Given the description of an element on the screen output the (x, y) to click on. 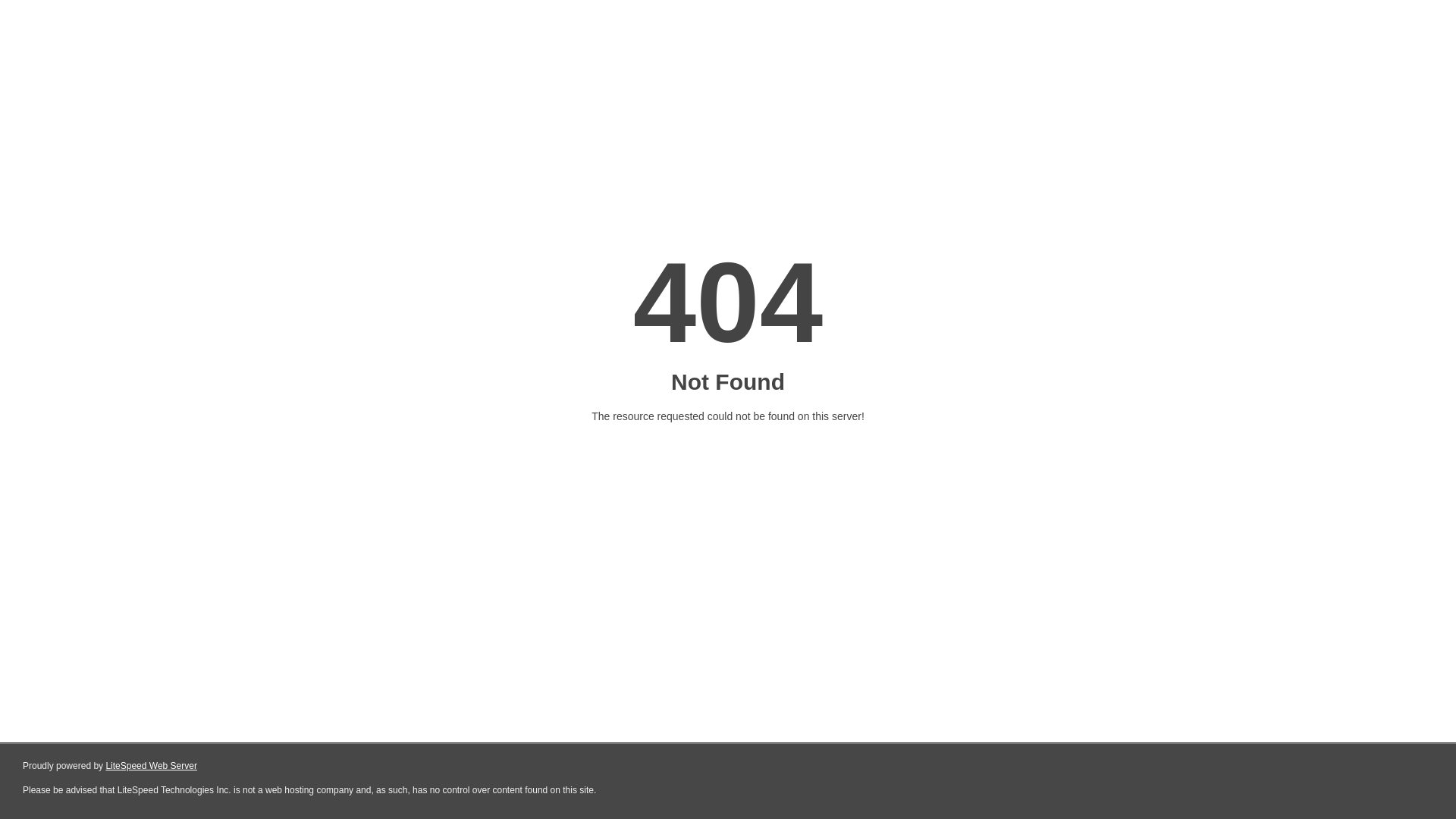
LiteSpeed Web Server Element type: text (151, 765)
